Given the description of an element on the screen output the (x, y) to click on. 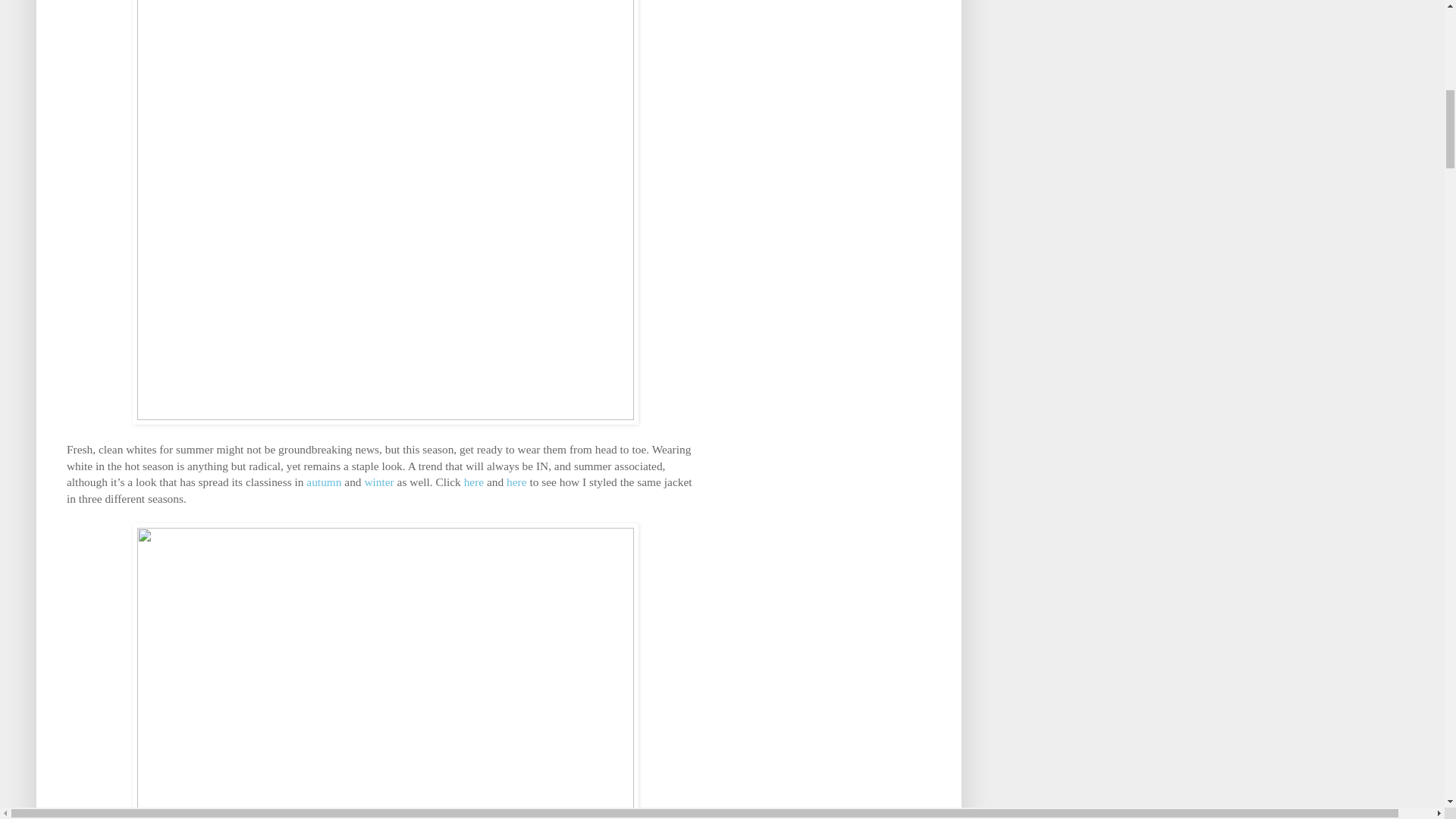
winter (378, 481)
autumn (322, 481)
here (515, 481)
here (473, 481)
